Given the description of an element on the screen output the (x, y) to click on. 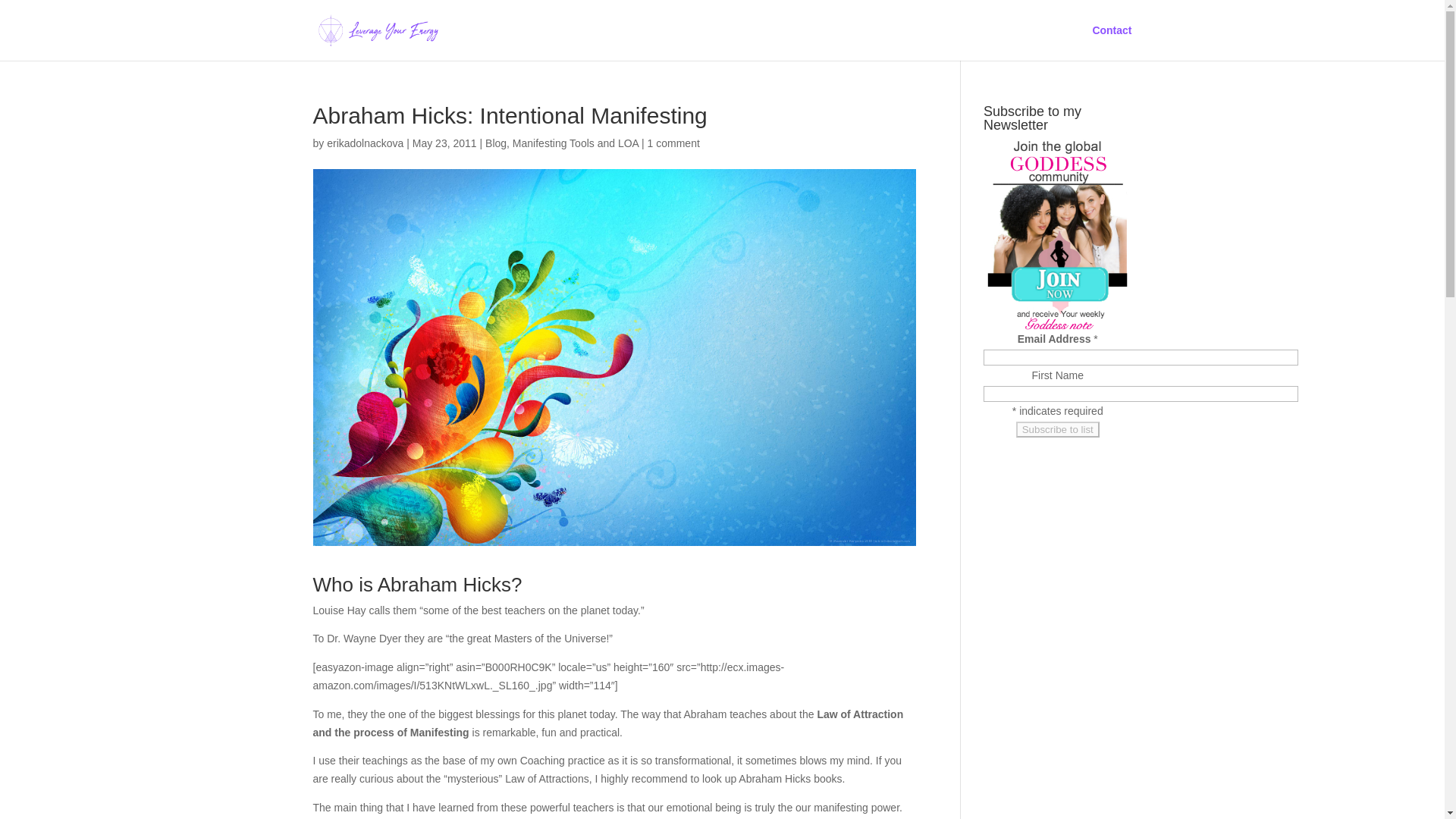
Posts by erikadolnackova (364, 143)
Subscribe to list (1057, 429)
Blog (495, 143)
Manifesting Tools and LOA (575, 143)
1 comment (673, 143)
Subscribe to list (1057, 429)
erikadolnackova (364, 143)
Contact (1111, 42)
